Given the description of an element on the screen output the (x, y) to click on. 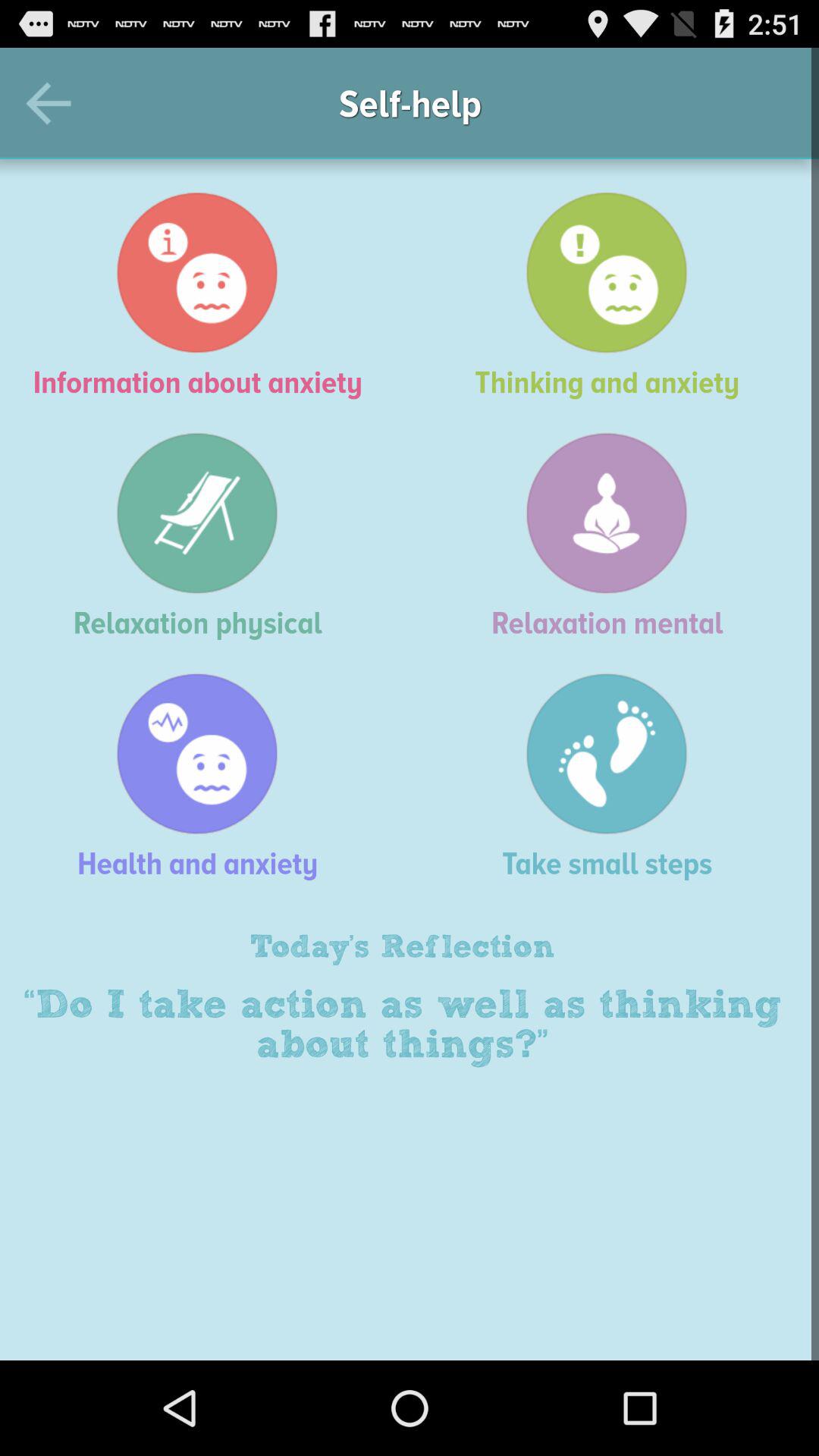
select icon to the left of the relaxation mental icon (204, 535)
